Given the description of an element on the screen output the (x, y) to click on. 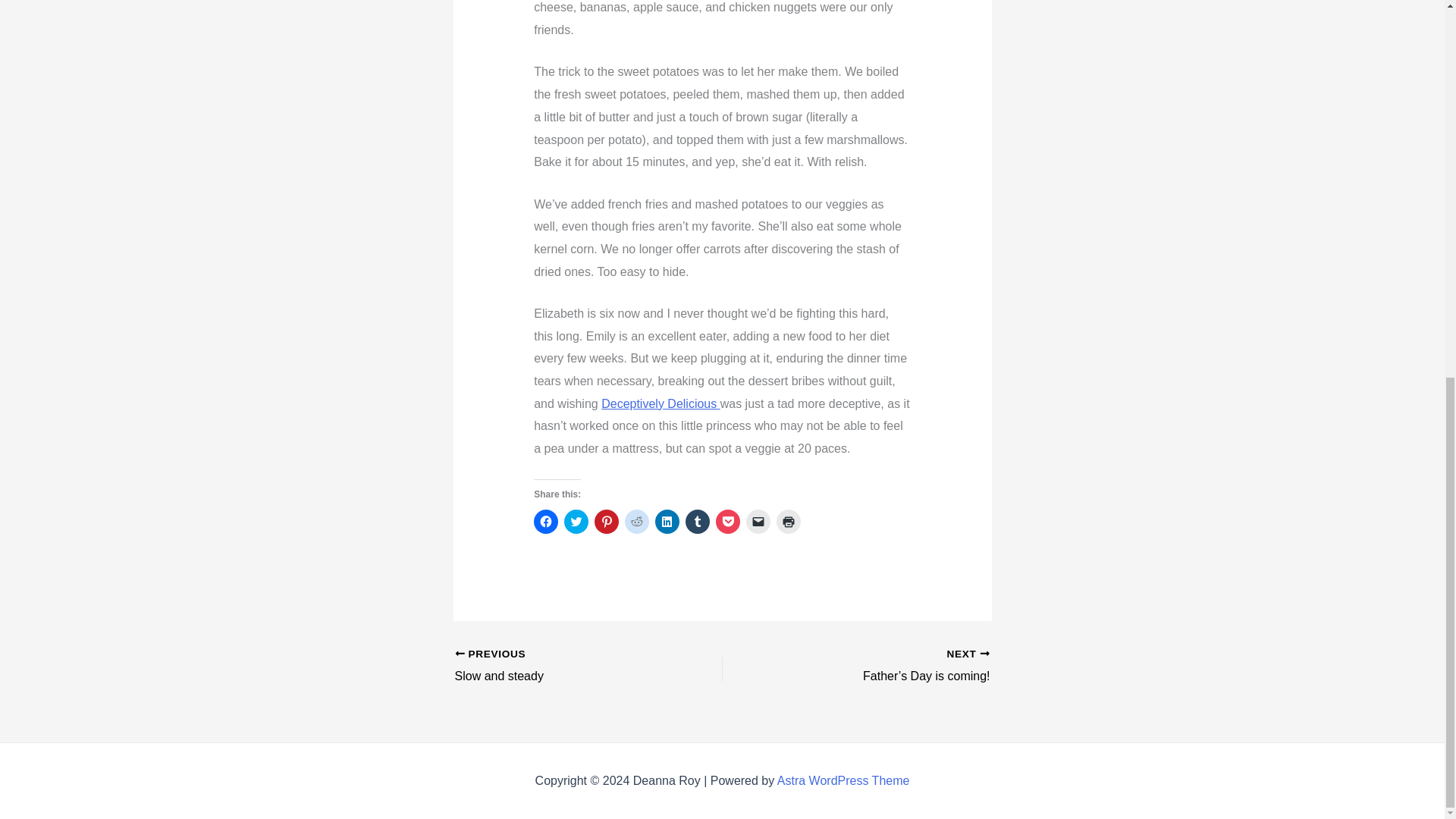
Click to share on Pocket (561, 666)
Click to email a link to a friend (727, 521)
Click to share on Twitter (757, 521)
Click to share on Tumblr (576, 521)
Slow and steady (697, 521)
Astra WordPress Theme (561, 666)
Click to share on Reddit (843, 780)
Click to share on LinkedIn (636, 521)
Click to share on Pinterest (667, 521)
Click to share on Facebook (606, 521)
Click to print (545, 521)
Deceptively Delicious (788, 521)
